Given the description of an element on the screen output the (x, y) to click on. 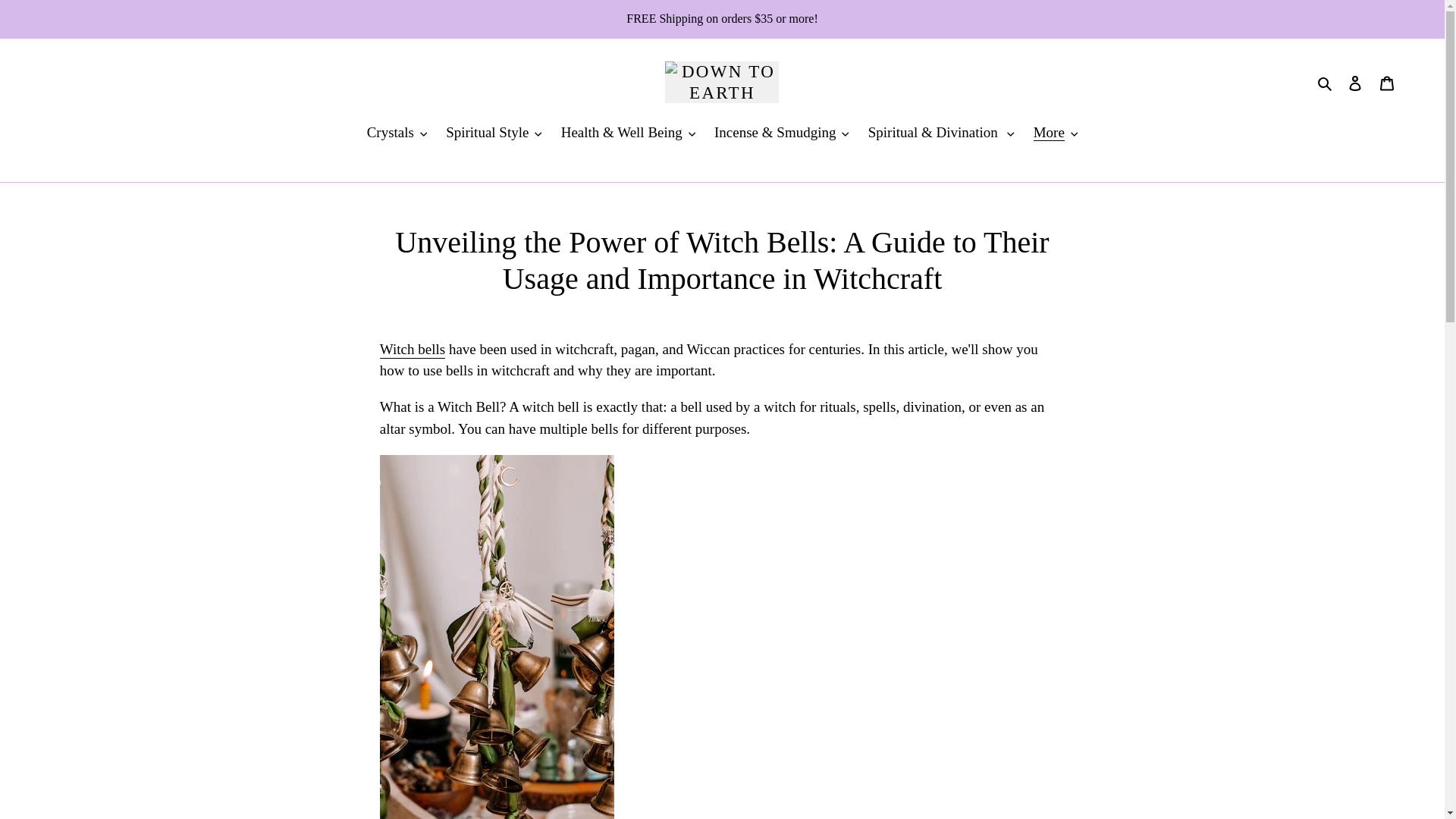
Log in (1355, 81)
Cart (1387, 81)
Witch Bell (412, 349)
Search (1326, 82)
